Given the description of an element on the screen output the (x, y) to click on. 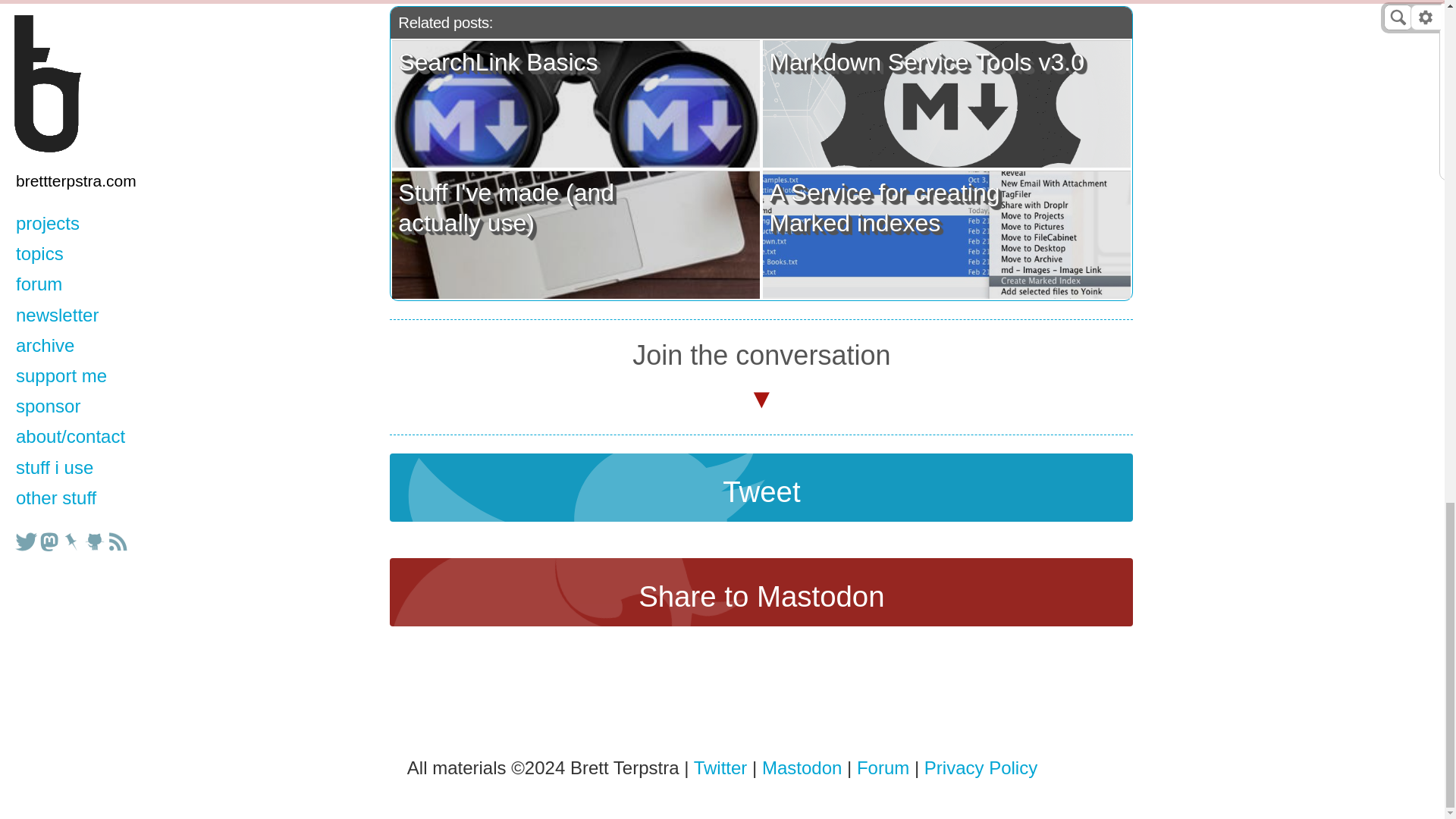
Tweet this post (761, 487)
